Given the description of an element on the screen output the (x, y) to click on. 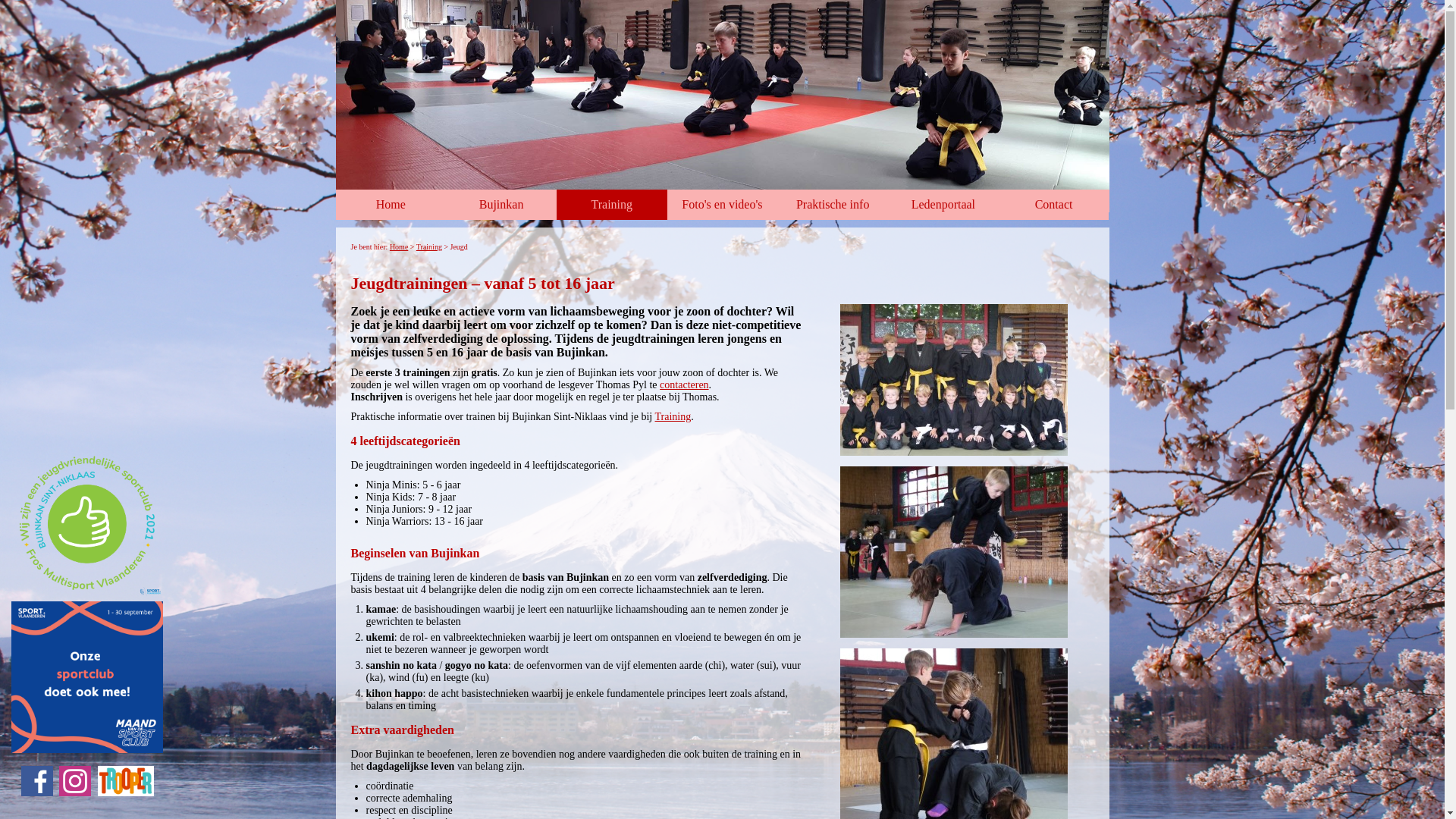
Foto's en video's Element type: text (722, 204)
Training Element type: text (611, 204)
Ninja Kids Element type: hover (953, 551)
Ledenportaal Element type: text (943, 204)
contacteren Element type: text (684, 384)
Ninja Kids - groepsfoto Element type: hover (953, 379)
Contact Element type: text (1053, 204)
Home Element type: text (398, 246)
Bujinkan Sint-Niklaas Element type: hover (721, 94)
Home Element type: text (390, 204)
Praktische info Element type: text (832, 204)
Training Element type: text (673, 416)
Training Element type: text (429, 246)
Bujinkan Element type: text (500, 204)
